Given the description of an element on the screen output the (x, y) to click on. 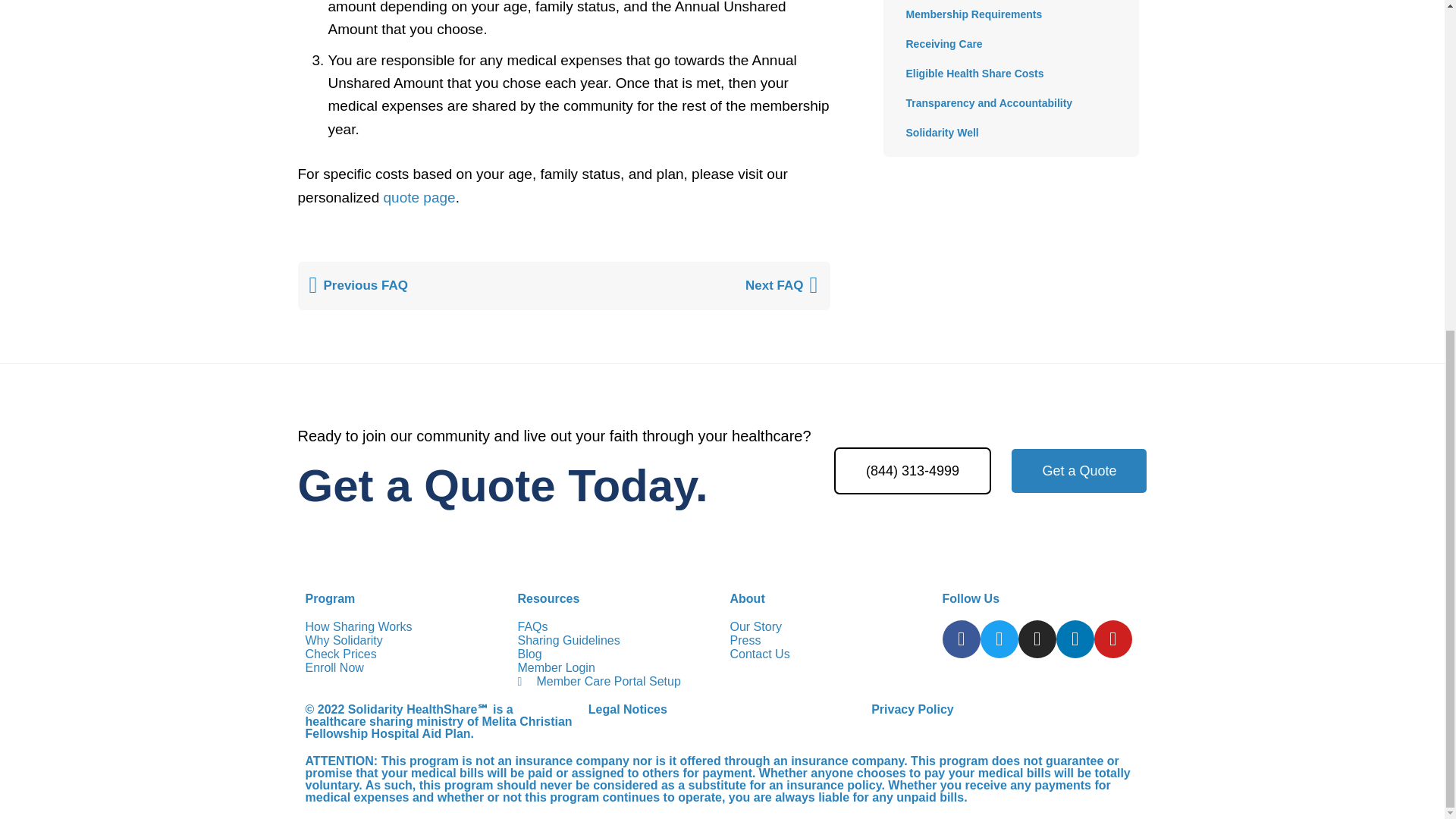
quote page (419, 197)
Next FAQ (690, 285)
Previous FAQ (436, 285)
